Given the description of an element on the screen output the (x, y) to click on. 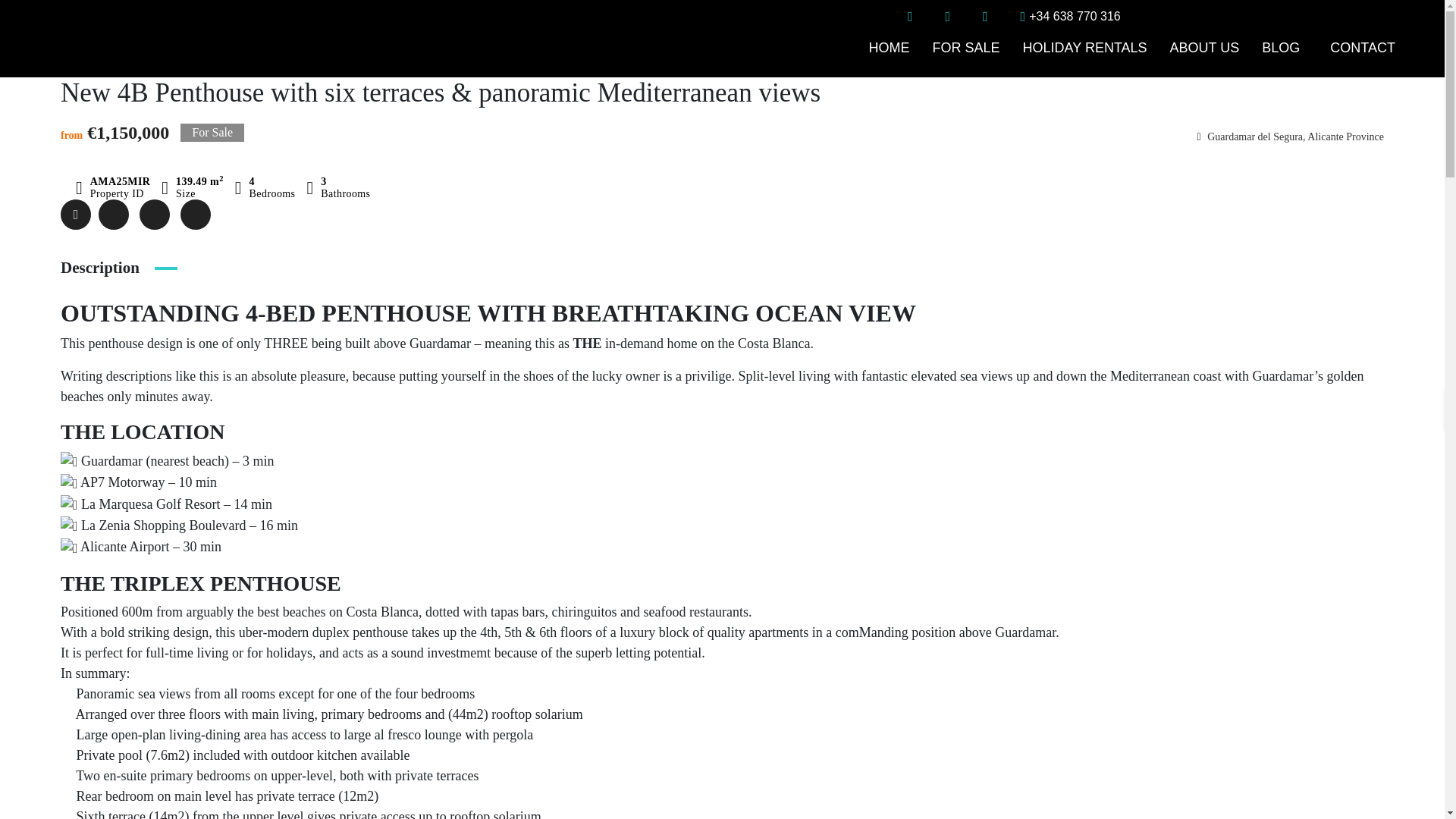
Property ID (112, 187)
HOME (889, 47)
Size (191, 187)
Add to Favorite (114, 214)
BLOG (1284, 47)
FOR SALE (966, 47)
ABOUT US (1204, 47)
4 Bedrooms (264, 187)
Compare (154, 214)
Guardamar del Segura, Alicante Province (1290, 136)
